Given the description of an element on the screen output the (x, y) to click on. 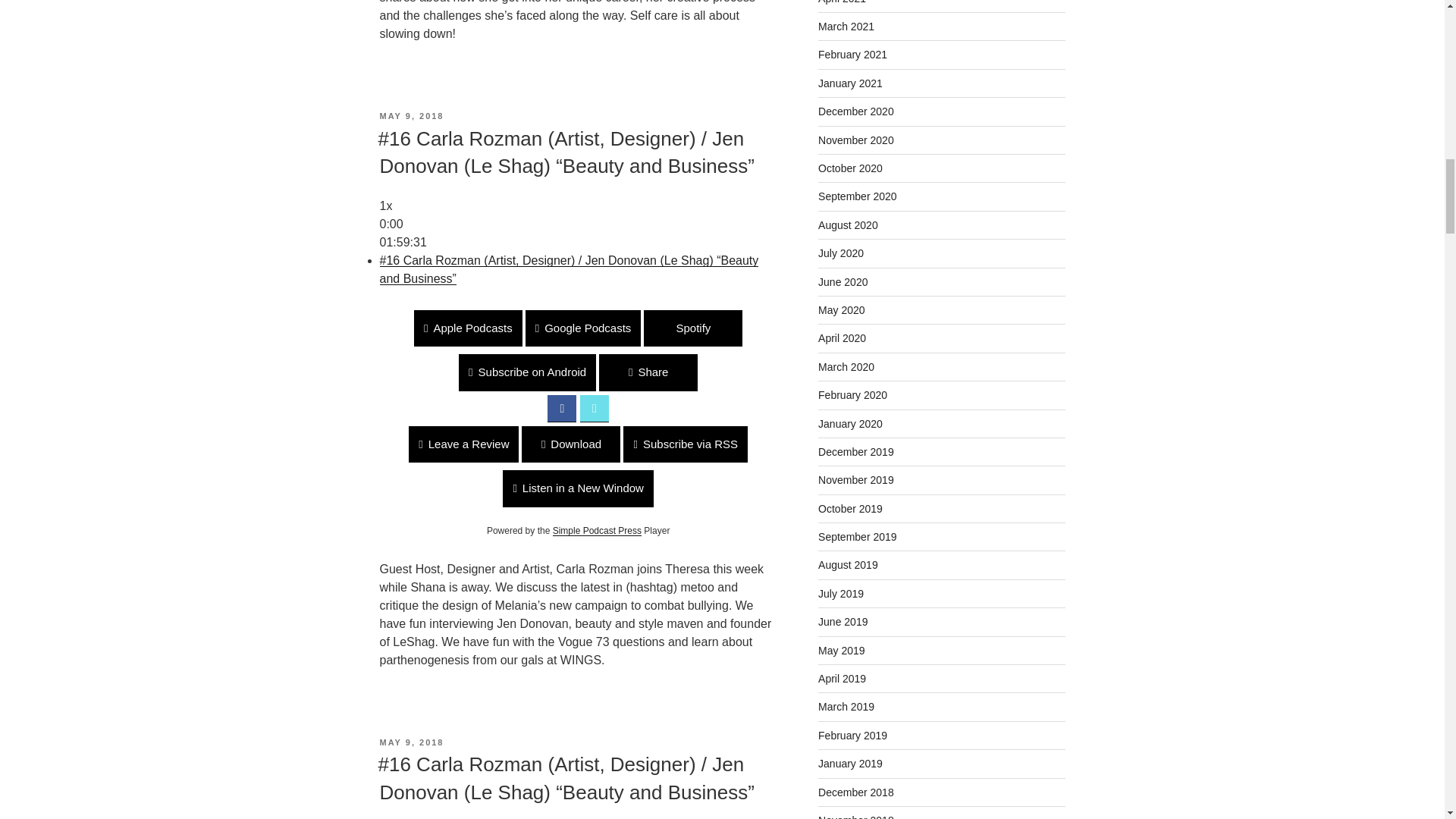
Share on Twitter (593, 408)
Share on Facebook (561, 408)
